Given the description of an element on the screen output the (x, y) to click on. 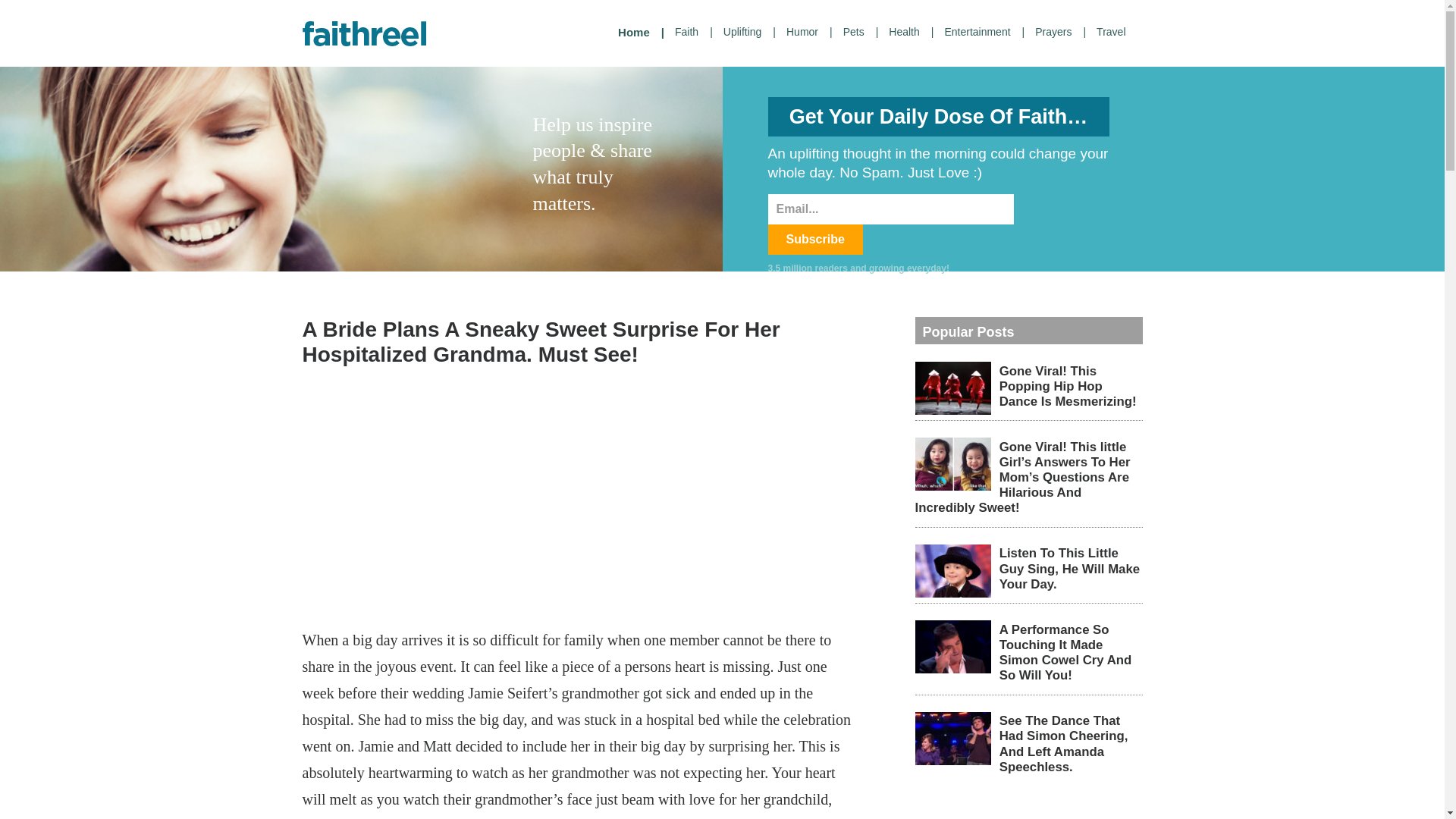
Entertainment (984, 32)
Faithreel.com (363, 33)
Home (640, 32)
Travel (1115, 32)
Subscribe (814, 239)
Faith (693, 32)
Uplifting (748, 32)
Subscribe (814, 239)
Prayers (1059, 32)
Pets (860, 32)
